Given the description of an element on the screen output the (x, y) to click on. 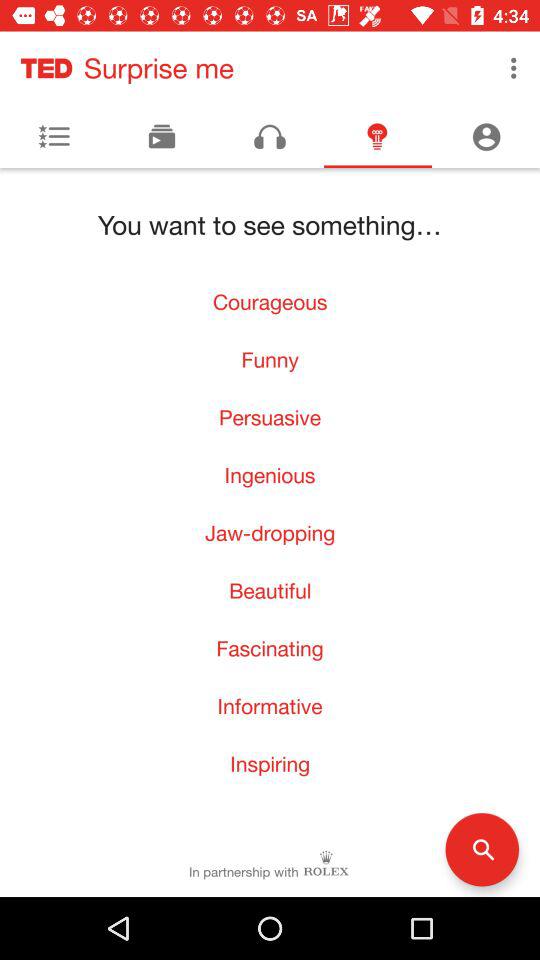
press icon at the bottom right corner (482, 849)
